Given the description of an element on the screen output the (x, y) to click on. 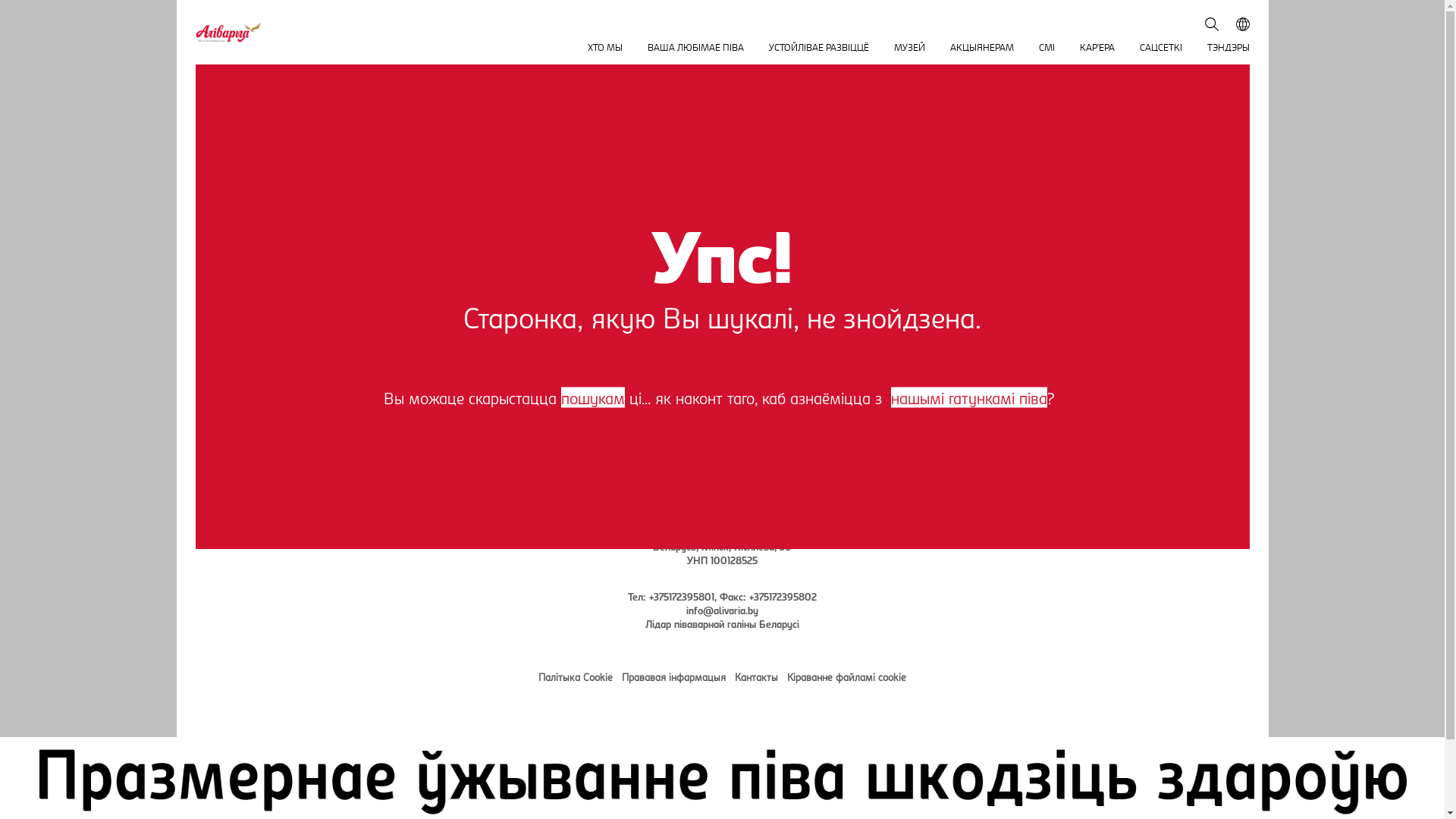
info@alivaria.by Element type: text (722, 609)
